Given the description of an element on the screen output the (x, y) to click on. 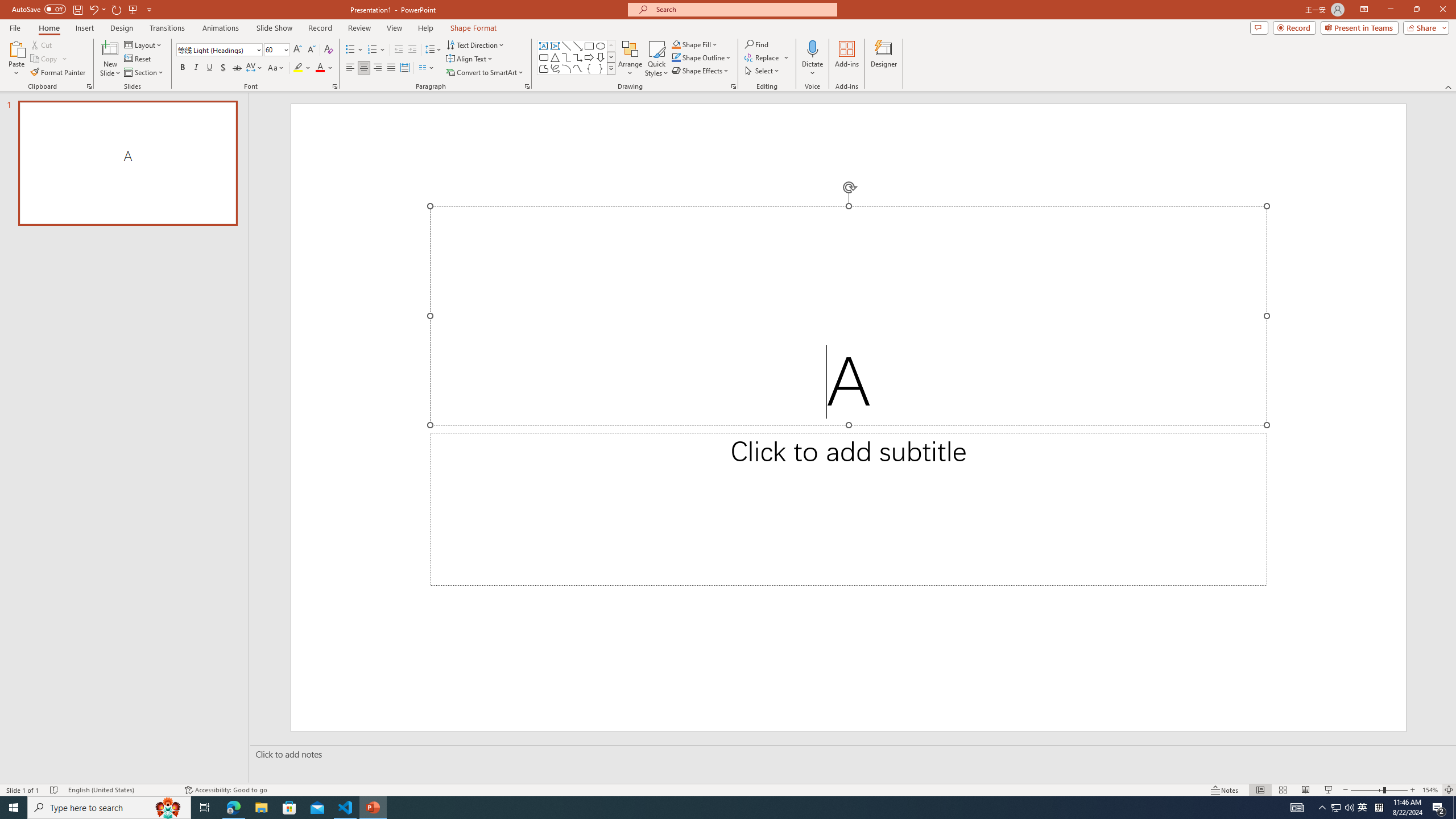
Zoom 154% (1430, 790)
